Given the description of an element on the screen output the (x, y) to click on. 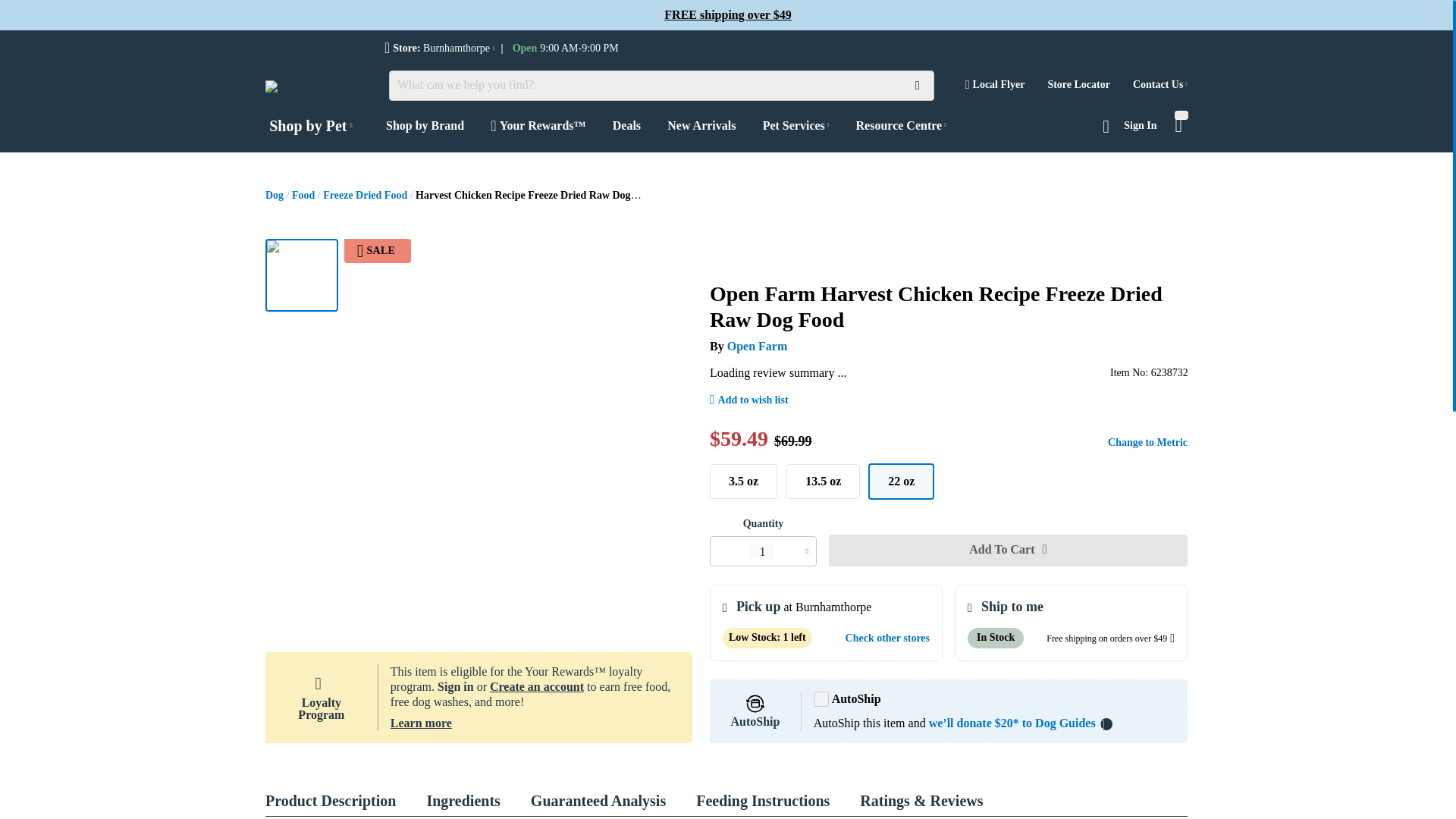
on (820, 698)
1 (762, 551)
